Given the description of an element on the screen output the (x, y) to click on. 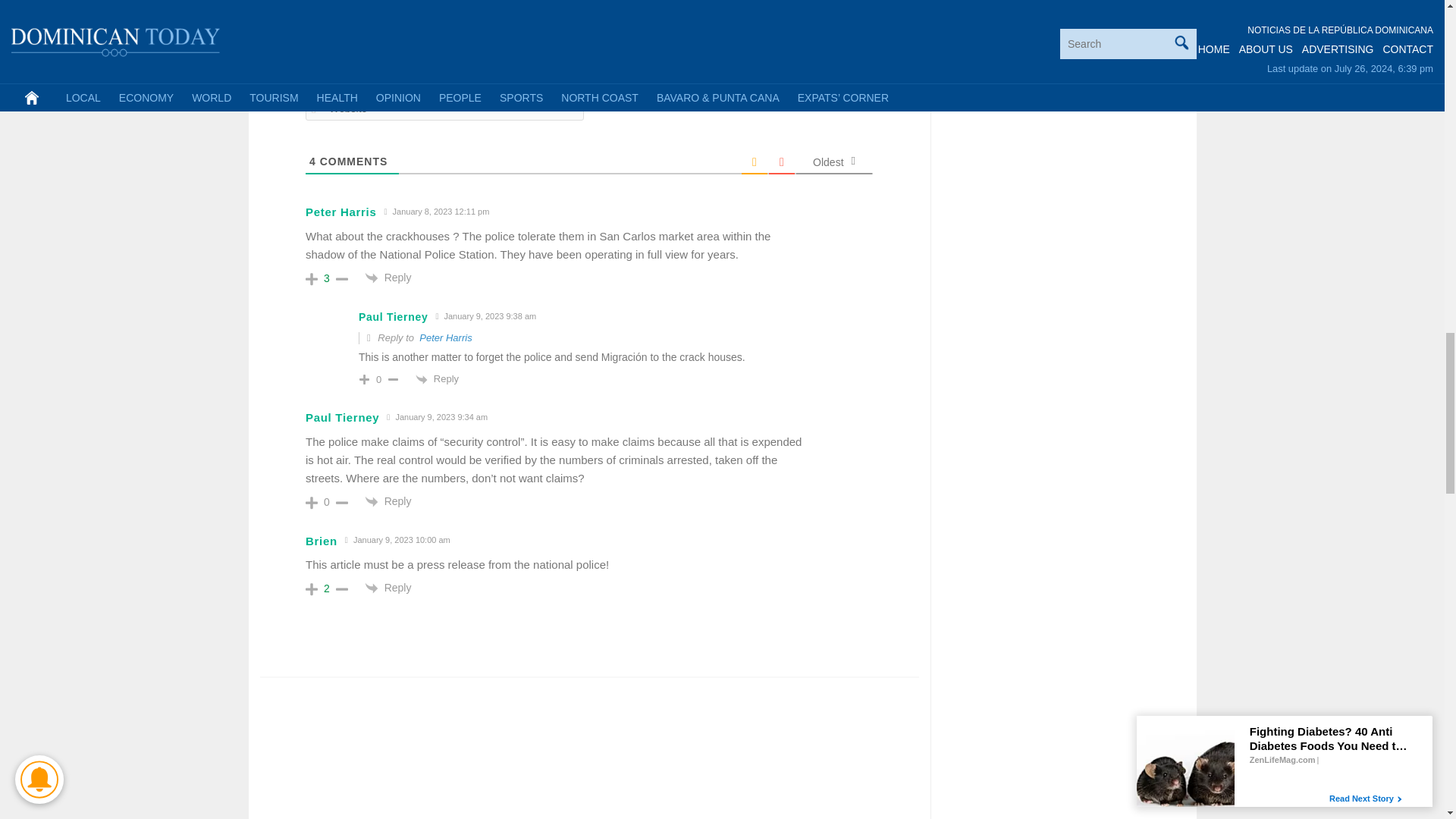
Blockquote (448, 14)
Underline (363, 14)
Italic (341, 14)
Ordered List (405, 14)
Post Comment (815, 72)
Strike (384, 14)
Unordered List (427, 14)
Bold (320, 14)
Code Block (469, 14)
